Given the description of an element on the screen output the (x, y) to click on. 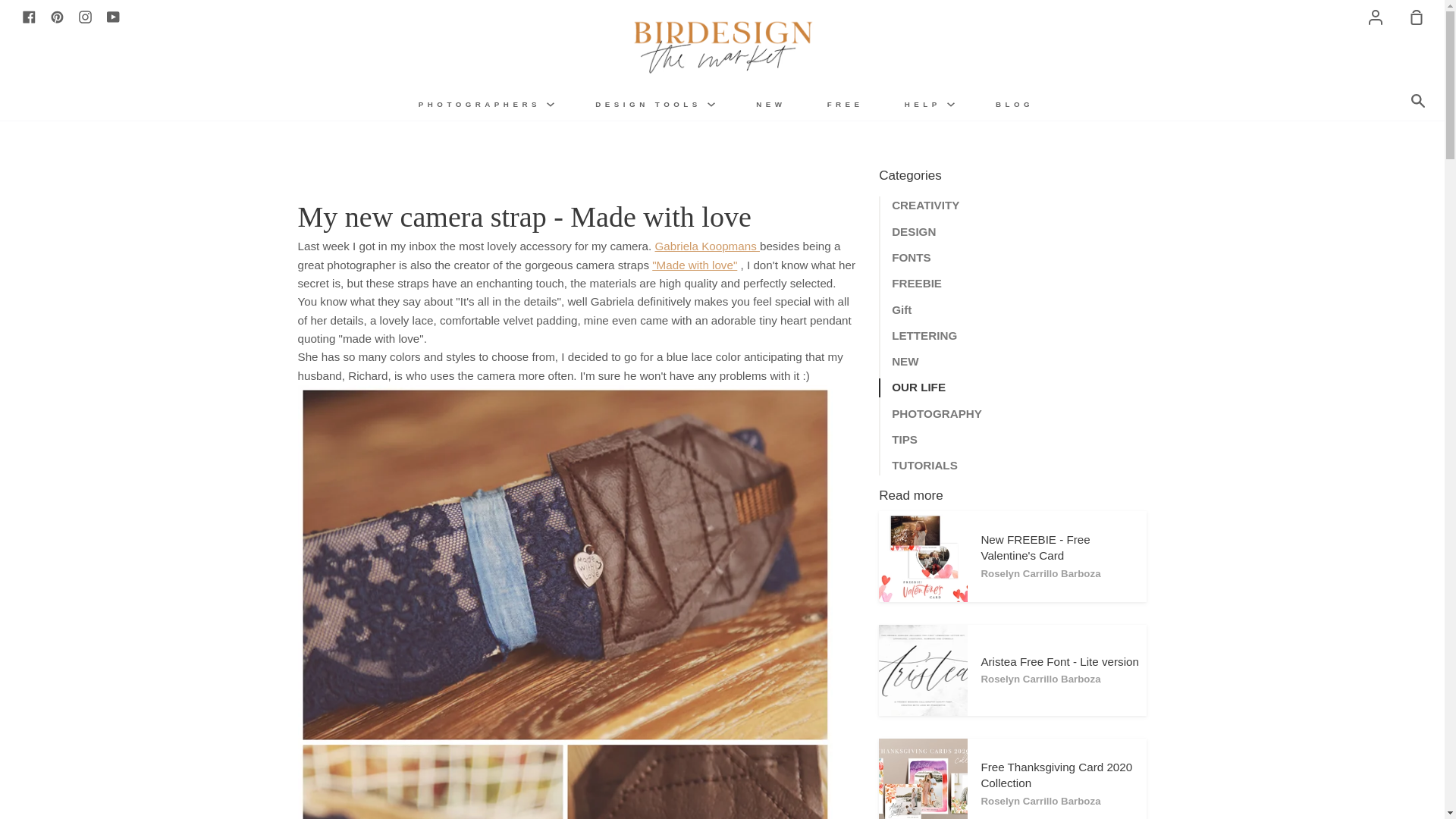
Pinterest (57, 15)
Instagram (84, 15)
Account (1375, 16)
Birdesign on Facebook (28, 15)
Facebook (28, 15)
Birdesign on Instagram (84, 15)
Birdesign on YouTube (112, 15)
PHOTOGRAPHERS (485, 103)
YouTube (112, 15)
Birdesign on Pinterest (57, 15)
